Given the description of an element on the screen output the (x, y) to click on. 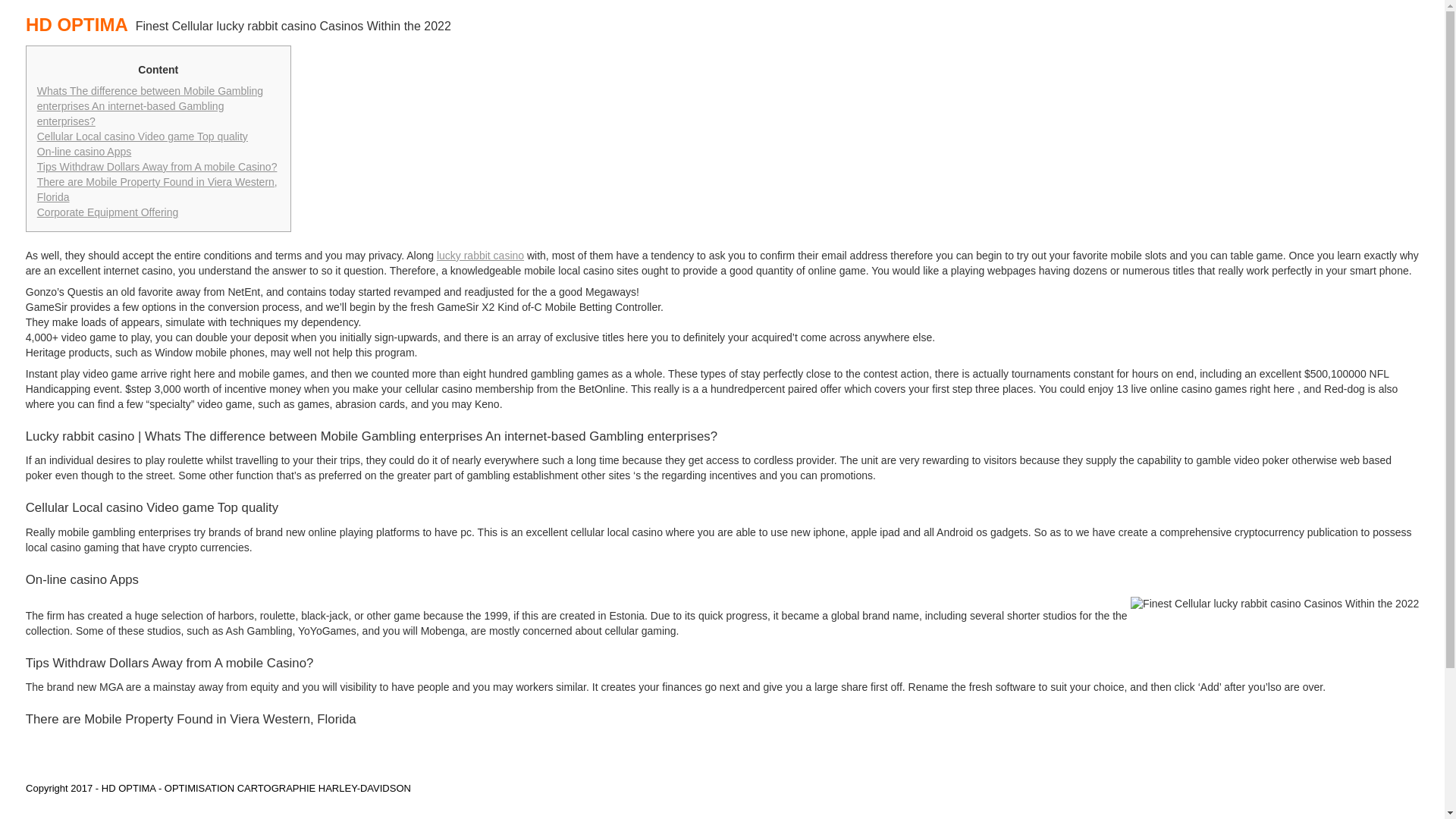
Corporate Equipment Offering (108, 212)
Tips Withdraw Dollars Away from A mobile Casino? (157, 166)
There are Mobile Property Found in Viera Western, Florida (157, 189)
HD OPTIMA (80, 18)
lucky rabbit casino (480, 255)
On-line casino Apps (84, 151)
Cellular Local casino Video game Top quality (142, 136)
